Given the description of an element on the screen output the (x, y) to click on. 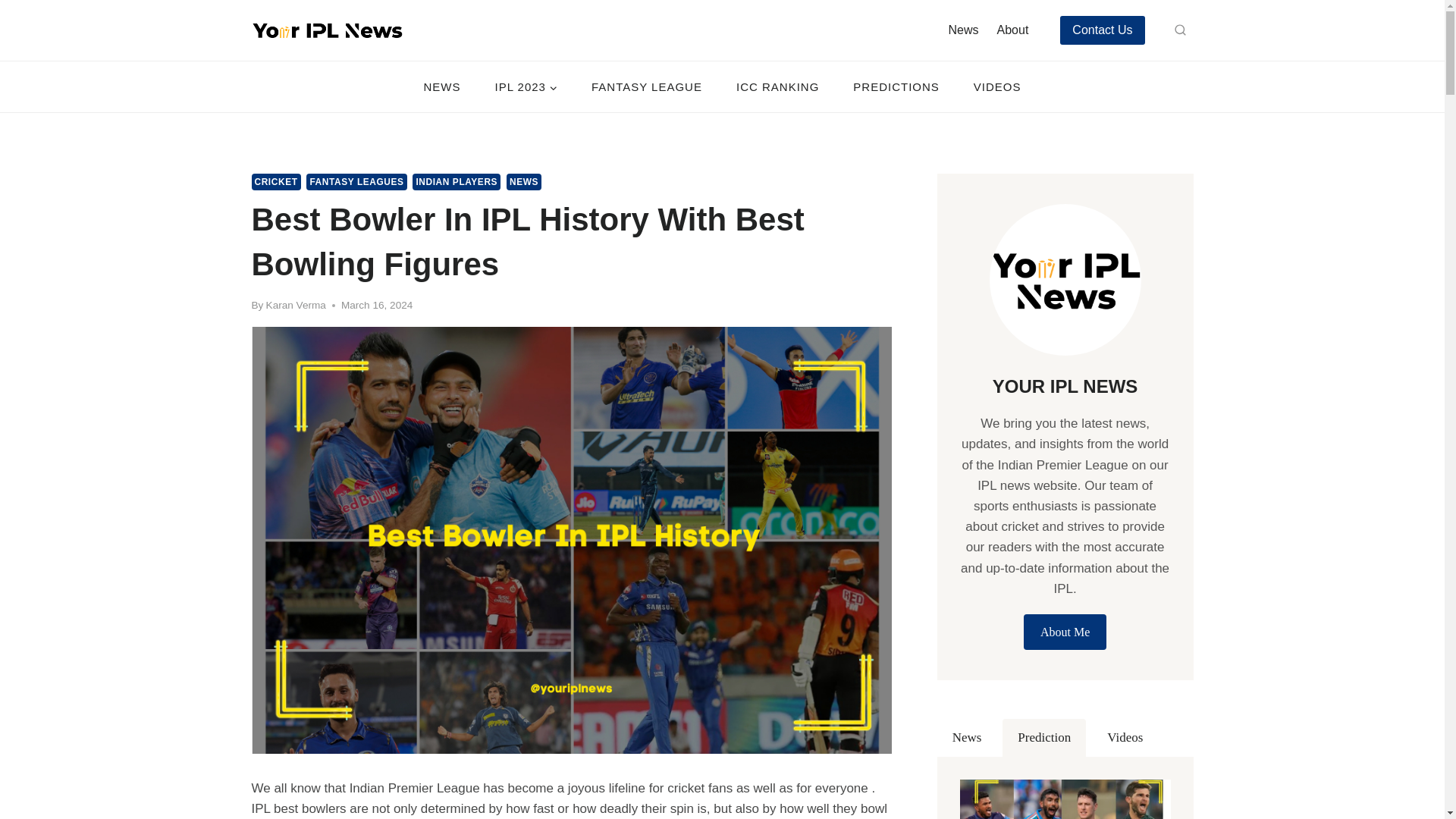
News (963, 30)
CRICKET (276, 181)
About (1013, 30)
INDIAN PLAYERS (456, 181)
Contact Us (1101, 30)
VIDEOS (997, 86)
PREDICTIONS (895, 86)
IPL 2023 (526, 86)
NEWS (523, 181)
Karan Verma (296, 305)
ICC RANKING (777, 86)
FANTASY LEAGUE (646, 86)
FANTASY LEAGUES (355, 181)
NEWS (441, 86)
